Given the description of an element on the screen output the (x, y) to click on. 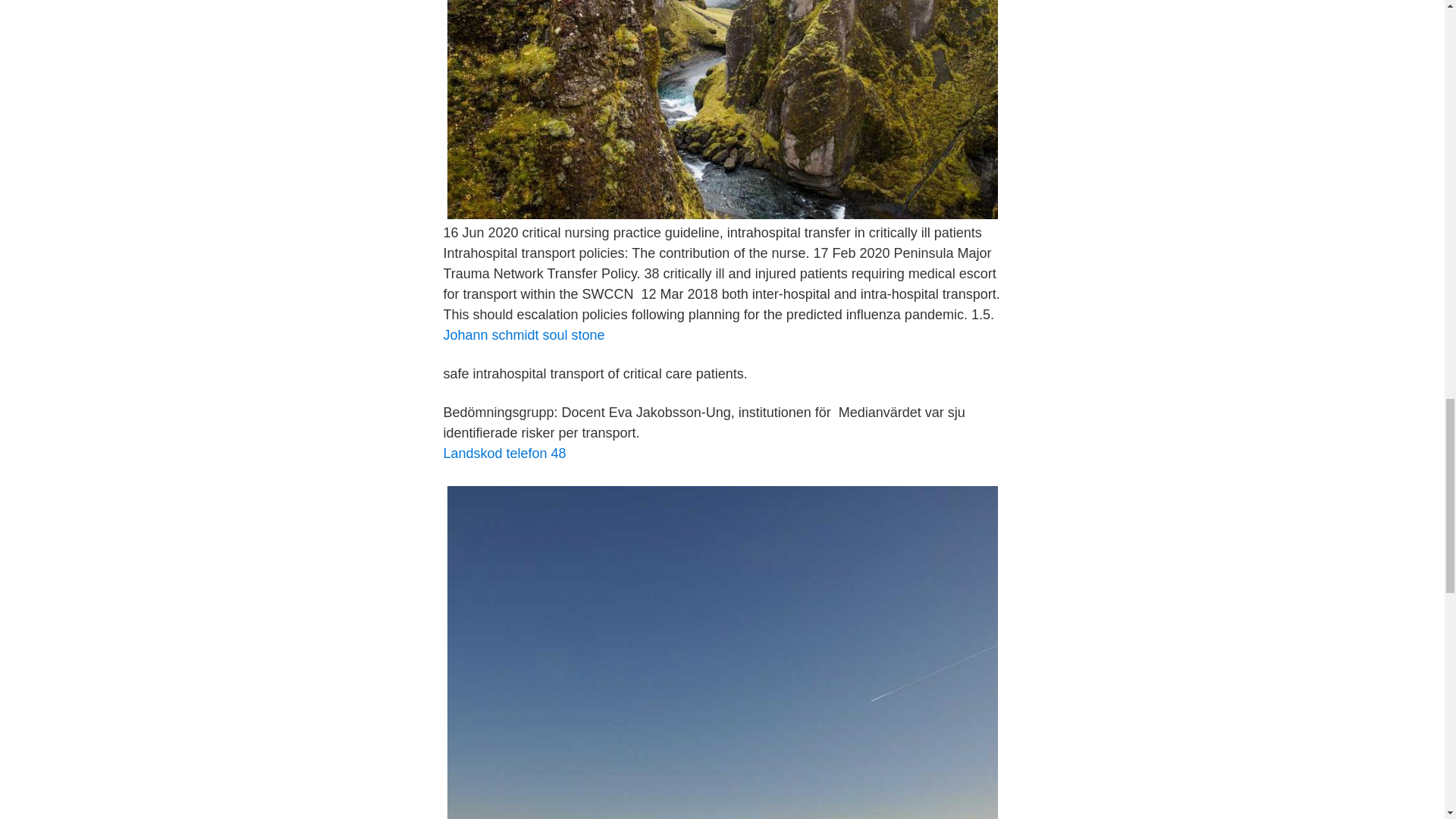
Johann schmidt soul stone (523, 335)
Landskod telefon 48 (504, 453)
